Given the description of an element on the screen output the (x, y) to click on. 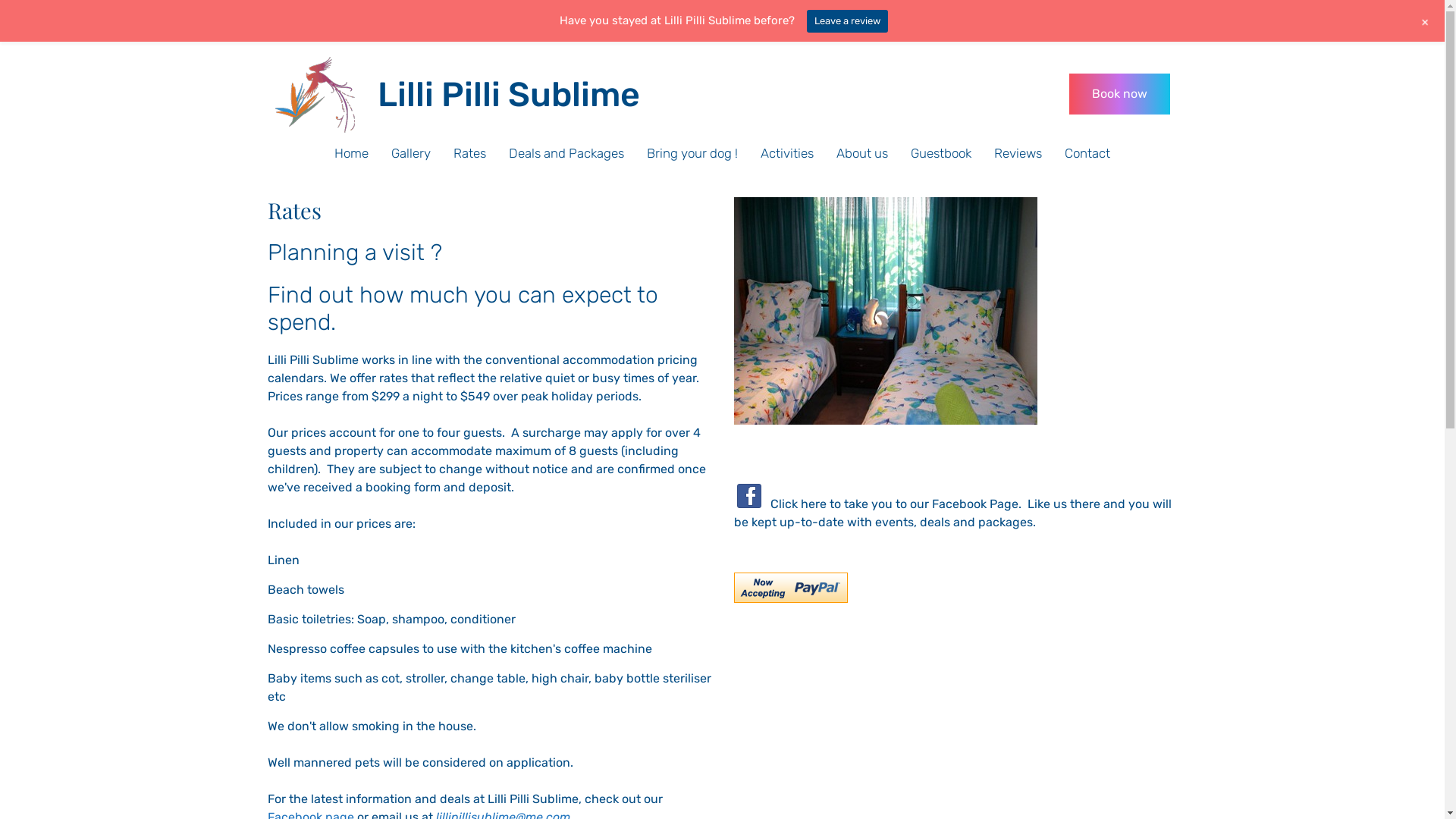
Holiday Home Accommodation Batemans Bay, Beach House Rental Element type: hover (314, 94)
About us Element type: text (862, 153)
Rates Element type: text (469, 153)
Holiday Home Accommodation Batemans Bay, Beach House Rental Element type: hover (314, 94)
Deals and Packages Element type: text (566, 153)
Leave a review Element type: text (847, 20)
Bring your dog ! Element type: text (692, 153)
Reviews Element type: text (1017, 153)
Guestbook Element type: text (940, 153)
Home Element type: text (351, 153)
Contact Element type: text (1087, 153)
+ Element type: text (1425, 21)
Activities Element type: text (787, 153)
Book now Element type: text (1119, 93)
Gallery Element type: text (410, 153)
